Given the description of an element on the screen output the (x, y) to click on. 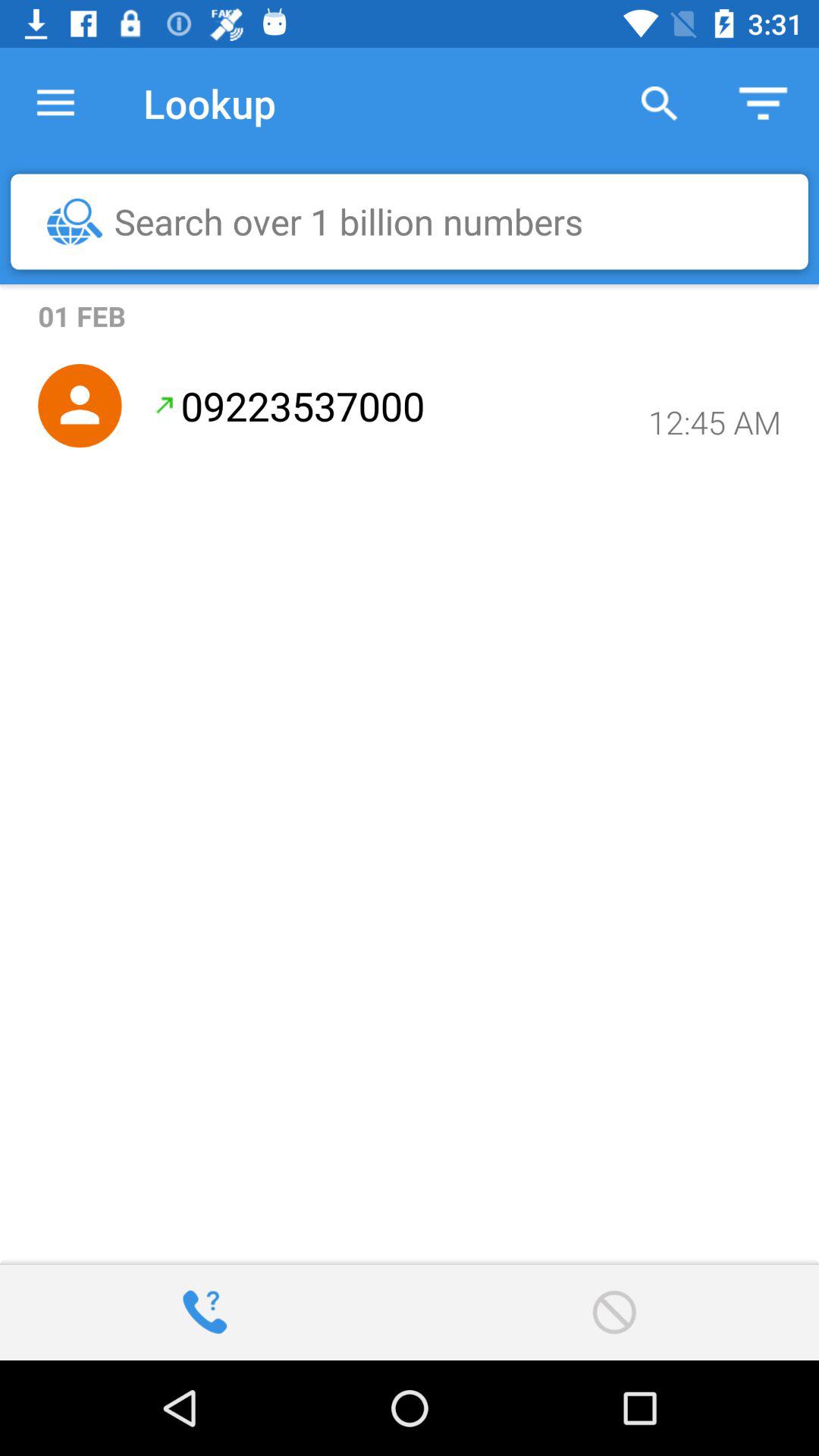
select the icon next to the search over 1 (74, 221)
